Given the description of an element on the screen output the (x, y) to click on. 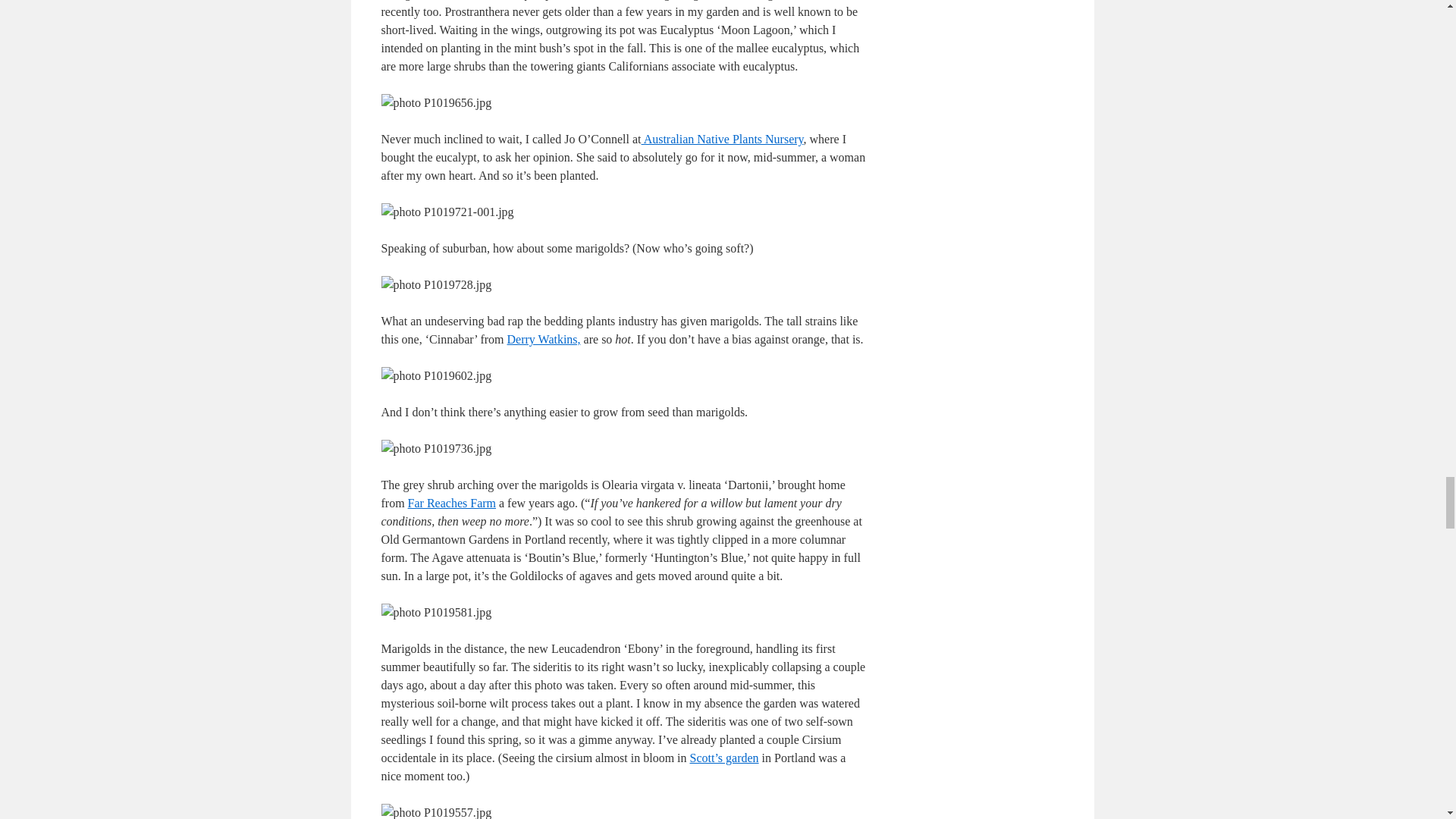
Far Reaches Farm (451, 502)
Australian Native Plants Nursery (722, 138)
Derry Watkins, (543, 338)
